Given the description of an element on the screen output the (x, y) to click on. 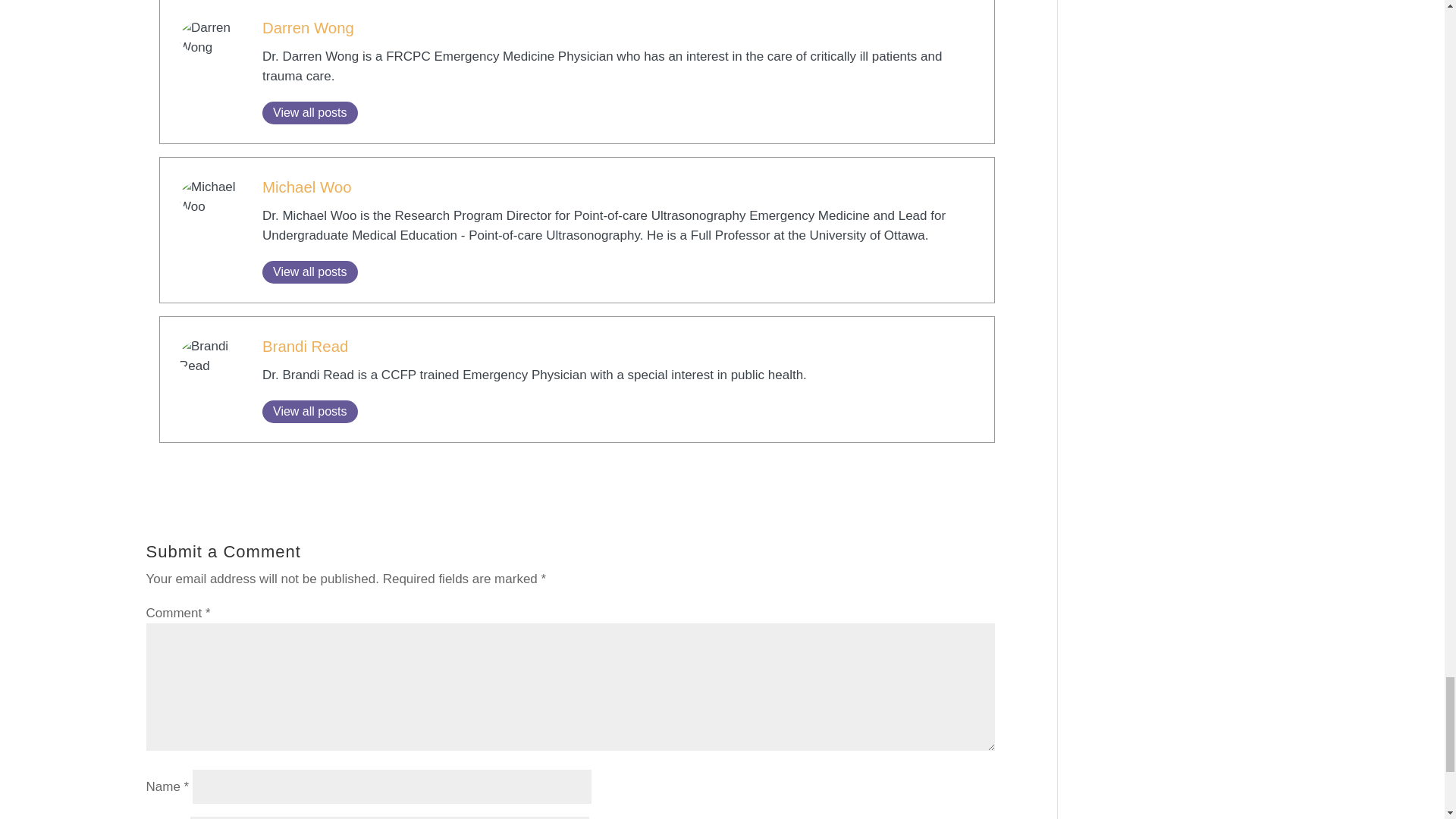
Brandi Read (304, 346)
Michael Woo (307, 187)
View all posts (310, 411)
View all posts (310, 272)
View all posts (310, 112)
View all posts (310, 112)
View all posts (310, 272)
Darren Wong (307, 27)
Darren Wong (307, 27)
Brandi Read (304, 346)
